Given the description of an element on the screen output the (x, y) to click on. 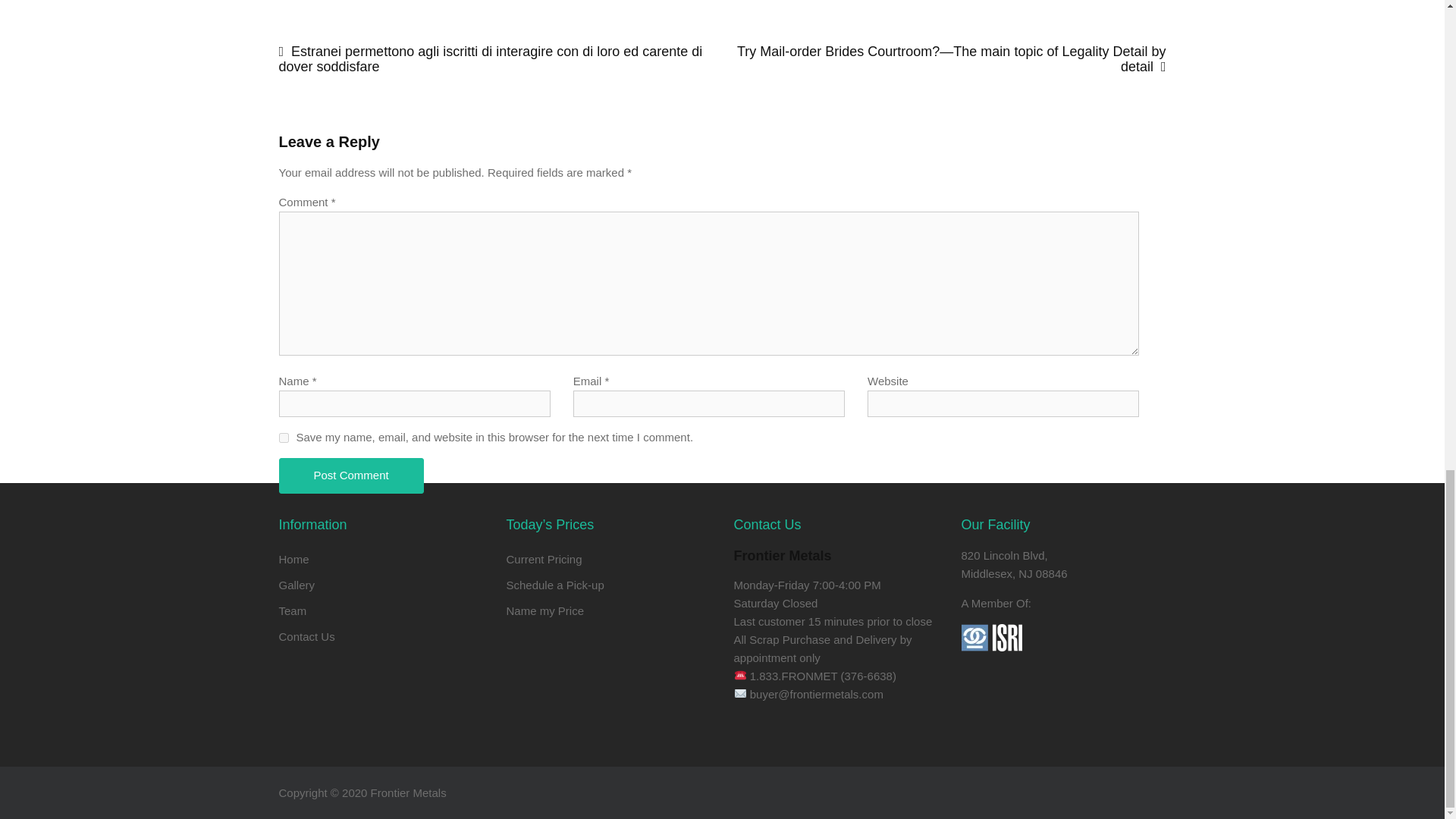
Gallery (297, 584)
Schedule a Pick-up (555, 584)
Contact Us (306, 635)
yes (283, 438)
Post Comment (351, 475)
Post Comment (351, 475)
Home (293, 558)
Team (293, 610)
Current Pricing (544, 558)
